Given the description of an element on the screen output the (x, y) to click on. 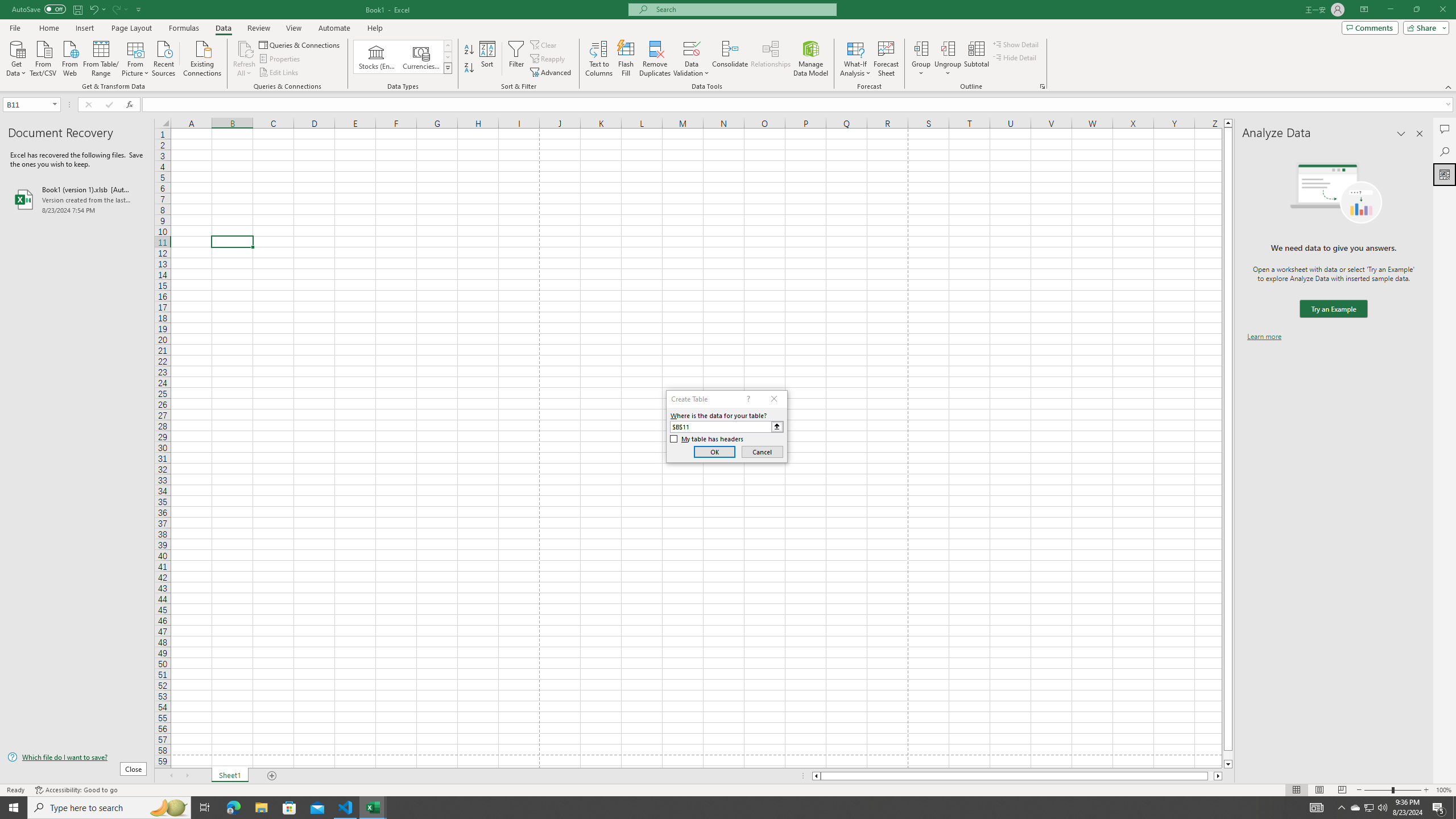
Relationships (770, 58)
Forecast Sheet (885, 58)
Sort... (487, 58)
Flash Fill (625, 58)
Consolidate... (729, 58)
Text to Columns... (598, 58)
